Given the description of an element on the screen output the (x, y) to click on. 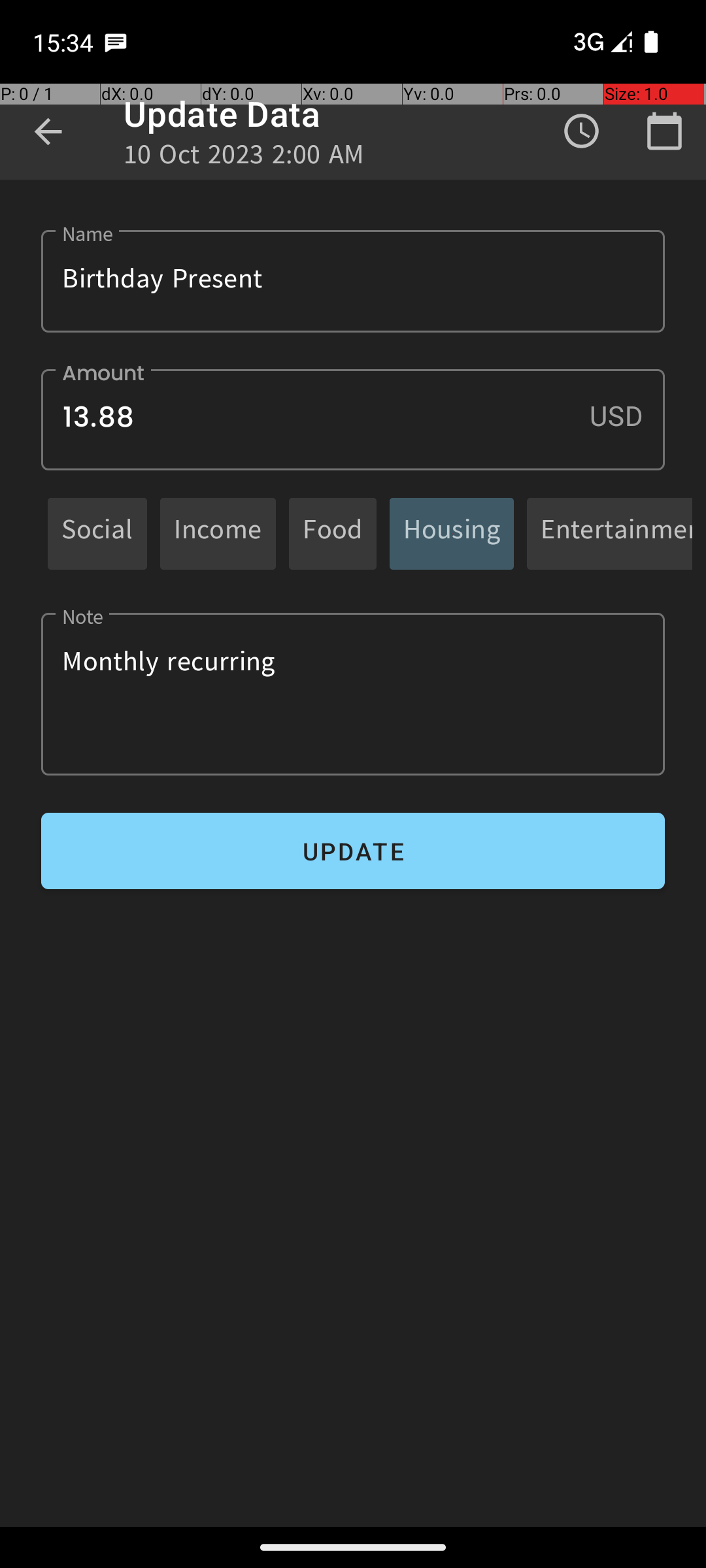
10 Oct 2023 2:00 AM Element type: android.widget.TextView (243, 157)
Birthday Present Element type: android.widget.EditText (352, 280)
13.88 Element type: android.widget.EditText (352, 419)
Monthly recurring Element type: android.widget.EditText (352, 693)
